Given the description of an element on the screen output the (x, y) to click on. 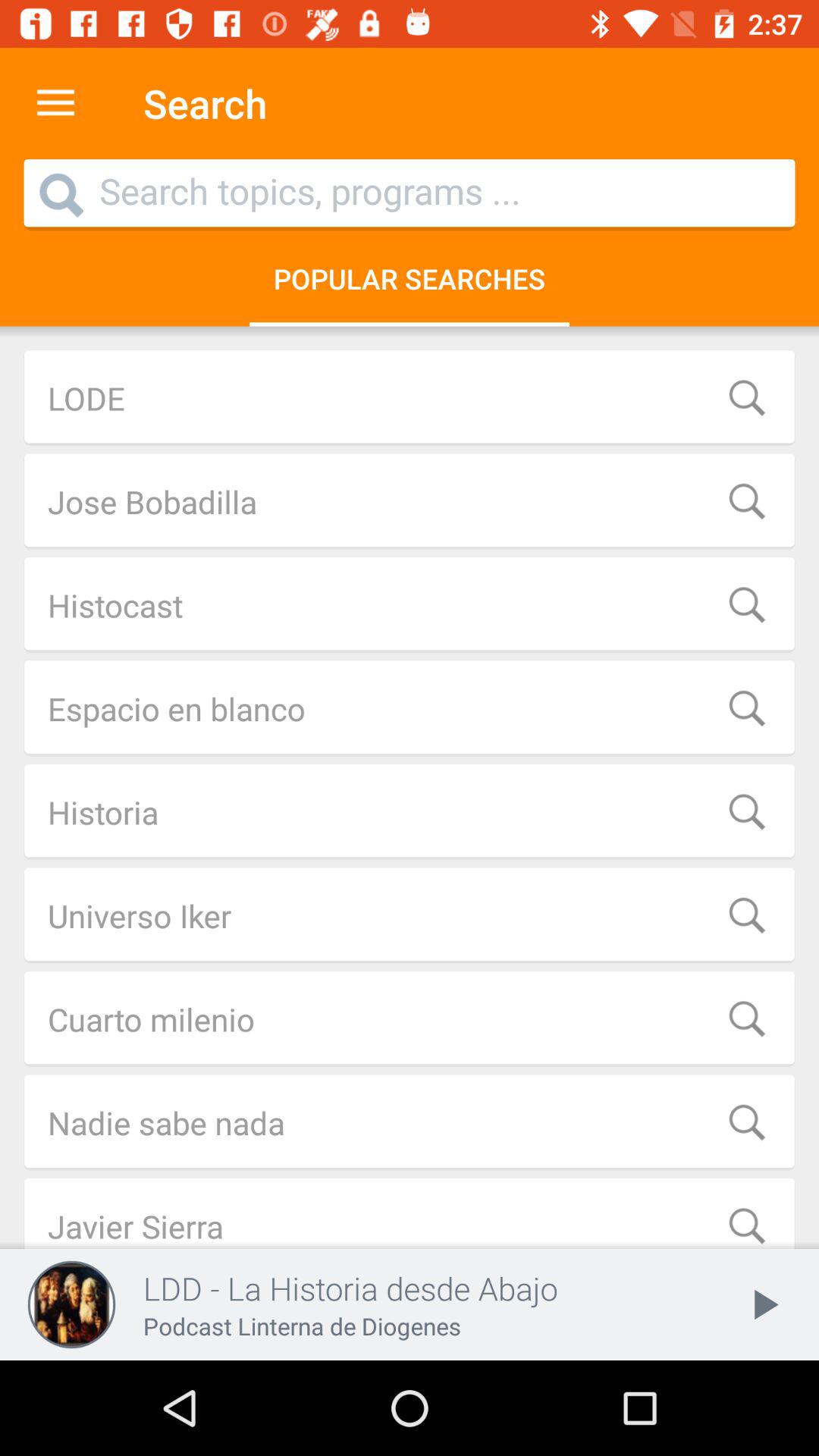
tap item next to the search (55, 103)
